Given the description of an element on the screen output the (x, y) to click on. 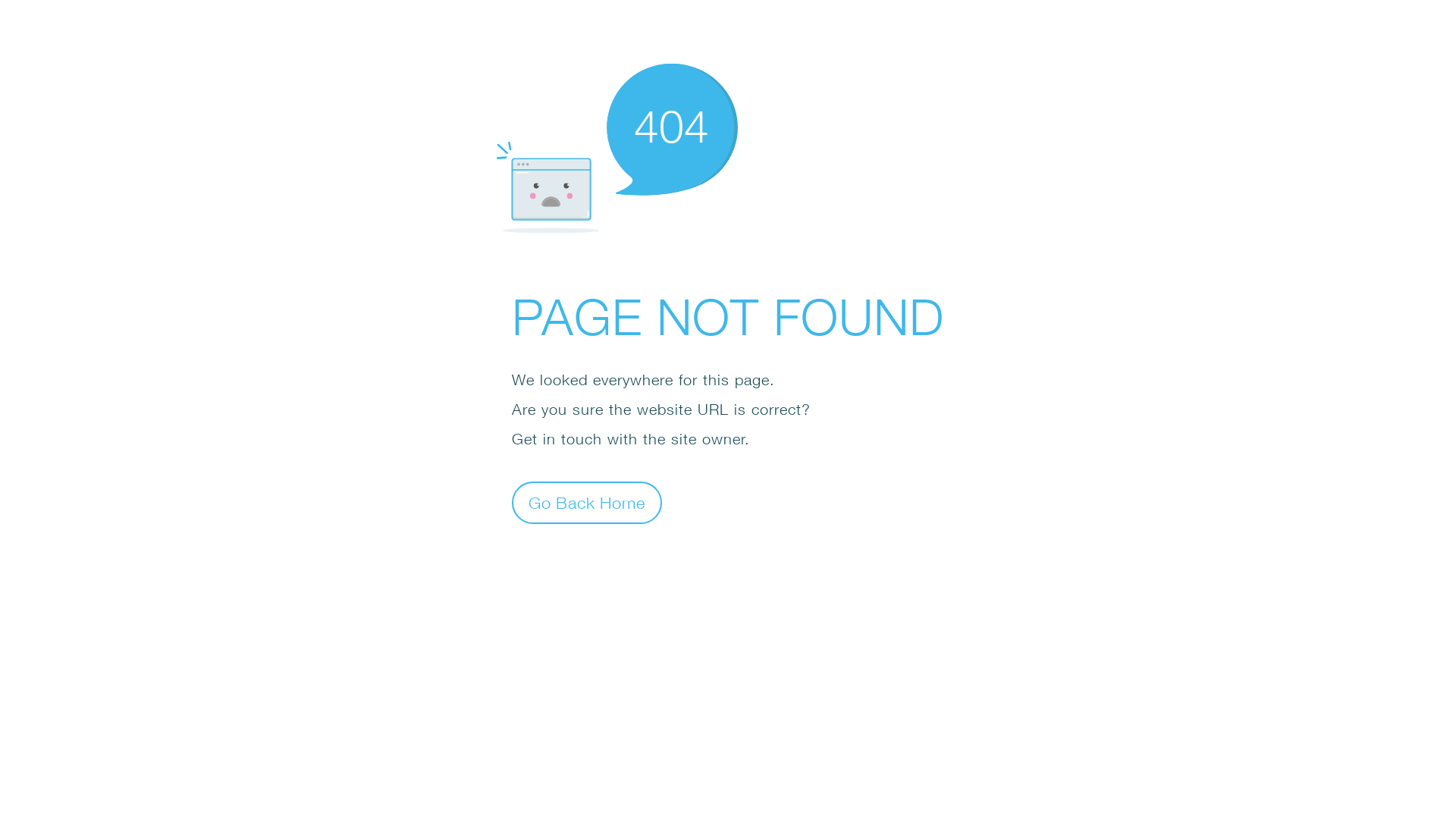
Go Back Home Element type: text (586, 502)
